Given the description of an element on the screen output the (x, y) to click on. 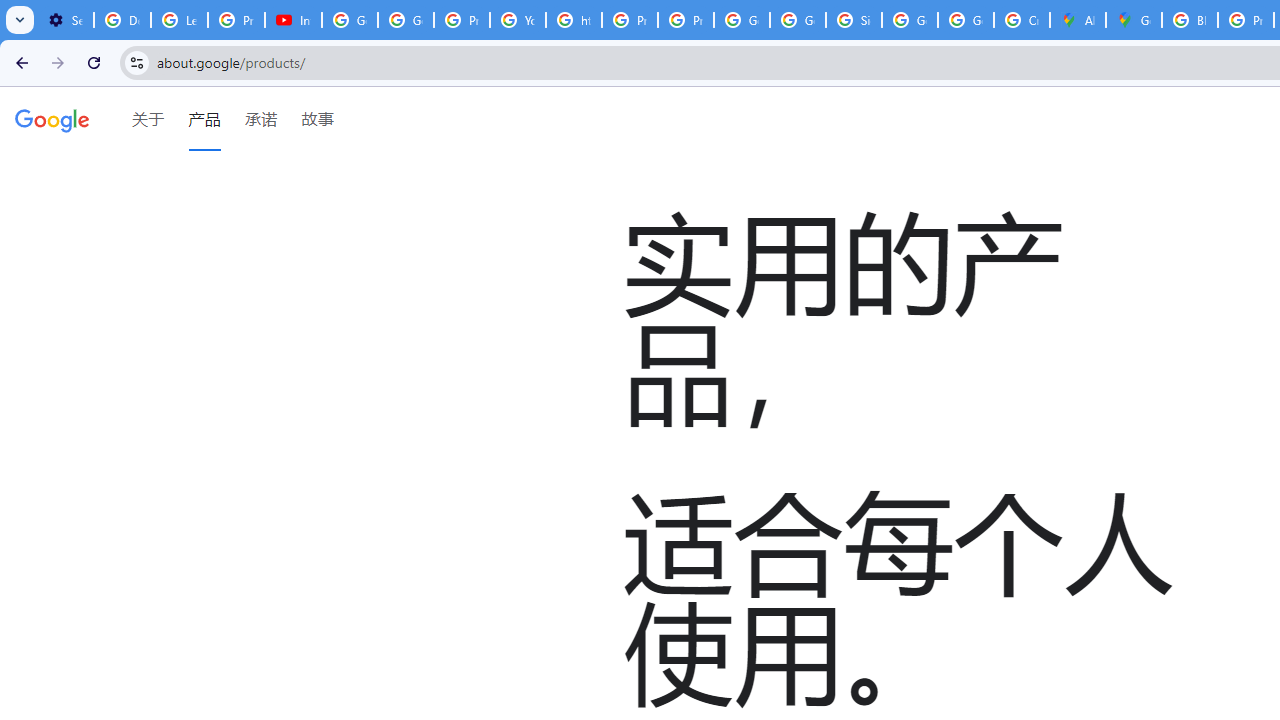
Delete photos & videos - Computer - Google Photos Help (122, 20)
Create your Google Account (1021, 20)
Sign in - Google Accounts (853, 20)
Introduction | Google Privacy Policy - YouTube (293, 20)
Privacy Help Center - Policies Help (629, 20)
Settings - Customize profile (65, 20)
